Given the description of an element on the screen output the (x, y) to click on. 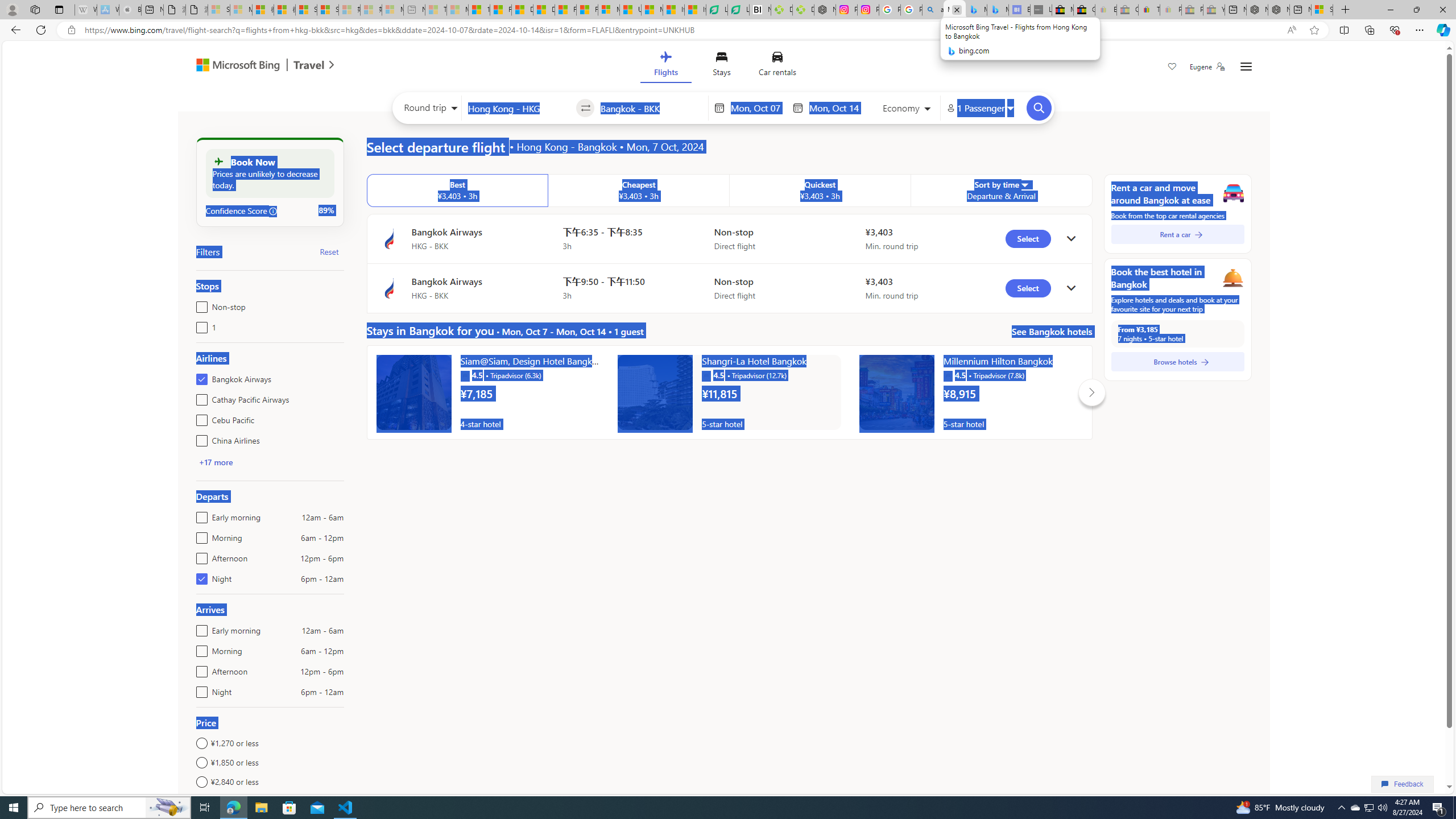
Payments Terms of Use | eBay.com - Sleeping (1170, 9)
Drinking tea every day is proven to delay biological aging (543, 9)
Press Room - eBay Inc. - Sleeping (1192, 9)
Foo BAR | Trusted Community Engagement and Contributions (587, 9)
Afternoon12pm - 6pm (199, 669)
alabama high school quarterback dies - Search (933, 9)
Marine life - MSN - Sleeping (457, 9)
Microsoft Bing Travel - Flights from Hong Kong to Bangkok (954, 9)
